Given the description of an element on the screen output the (x, y) to click on. 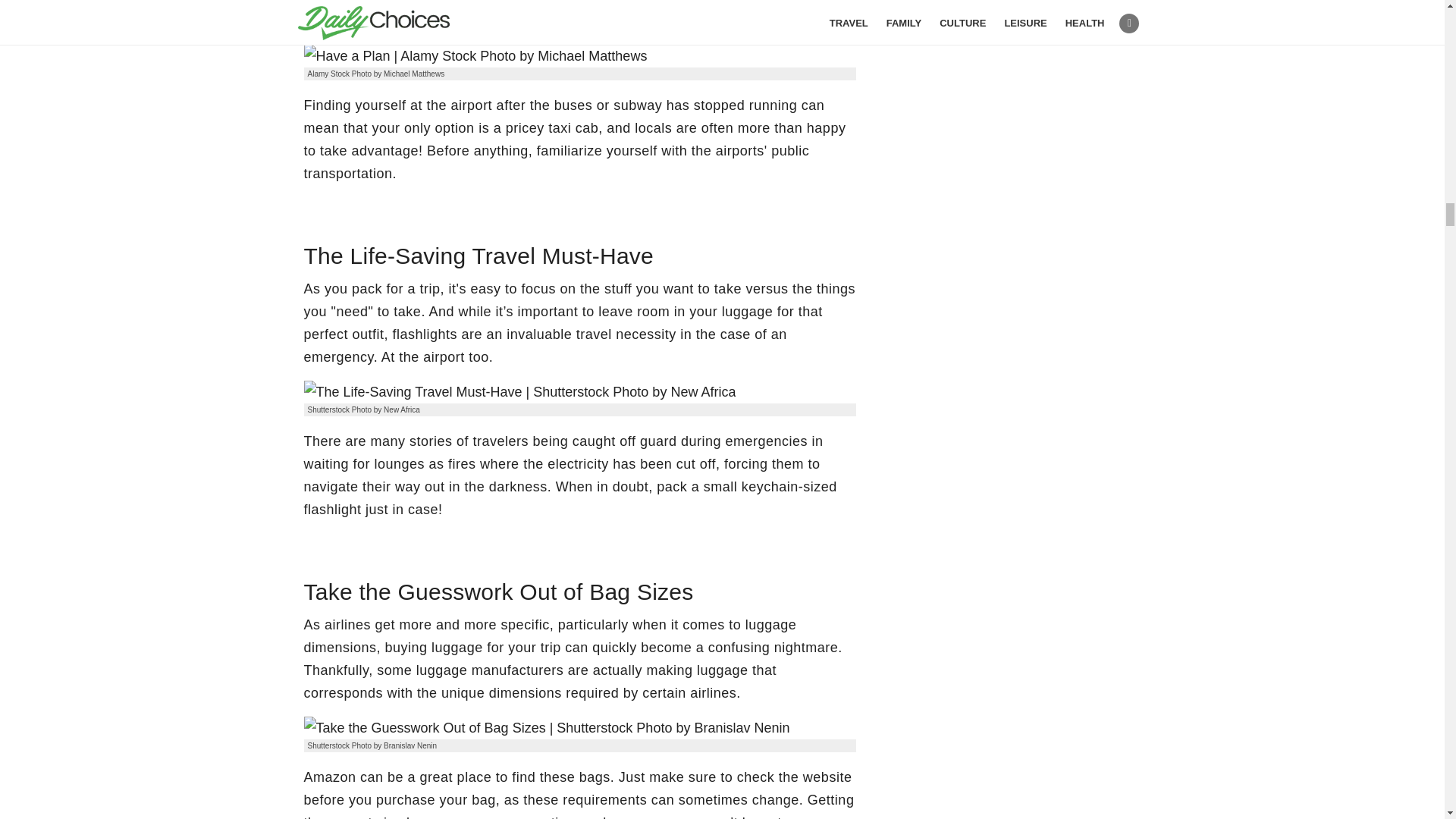
The Life-Saving Travel Must-Have (518, 391)
Have a Plan (474, 56)
Take the Guesswork Out of Bag Sizes (545, 727)
